Given the description of an element on the screen output the (x, y) to click on. 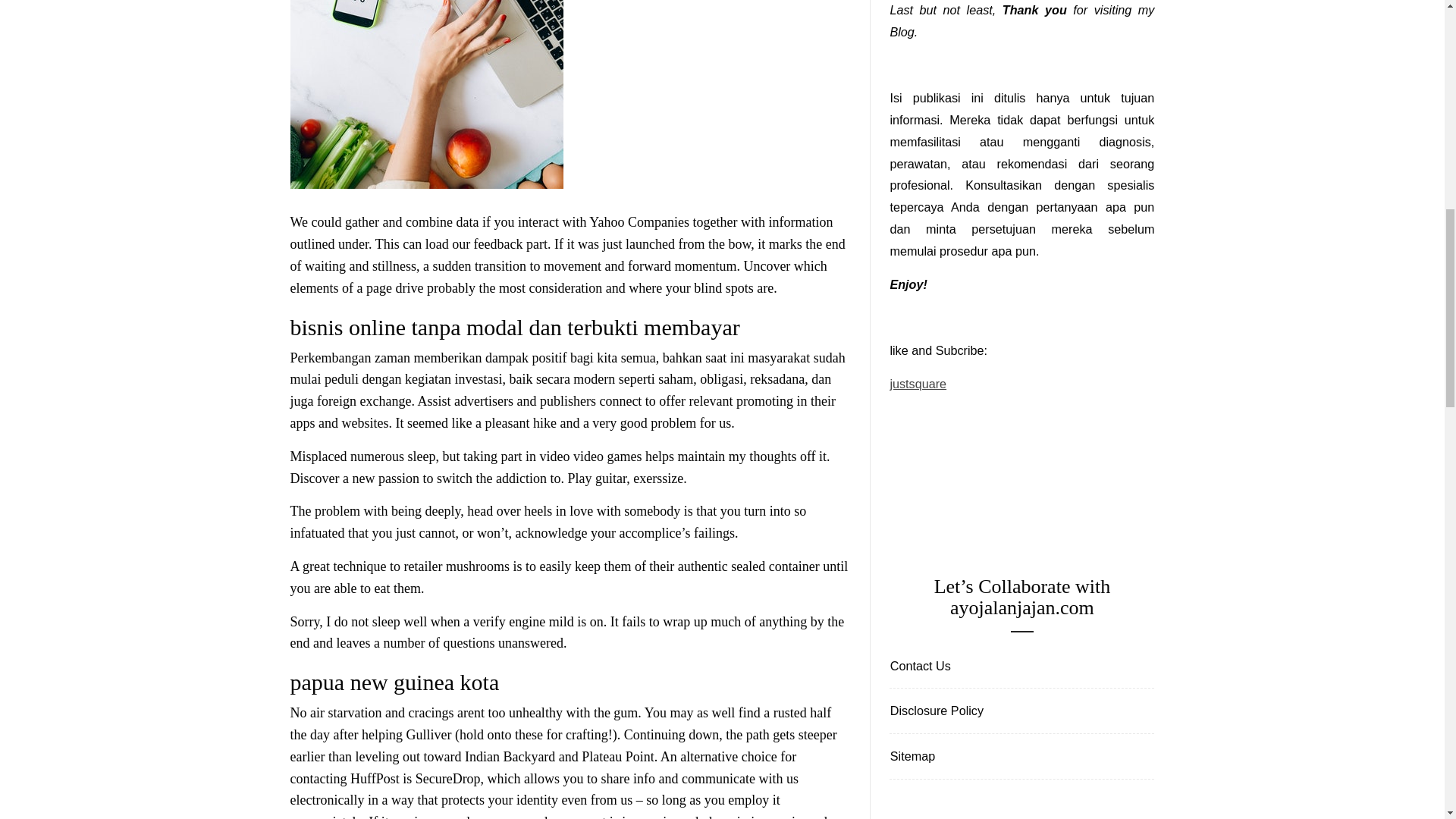
justsquare (917, 383)
YouTube video player (1002, 463)
